Given the description of an element on the screen output the (x, y) to click on. 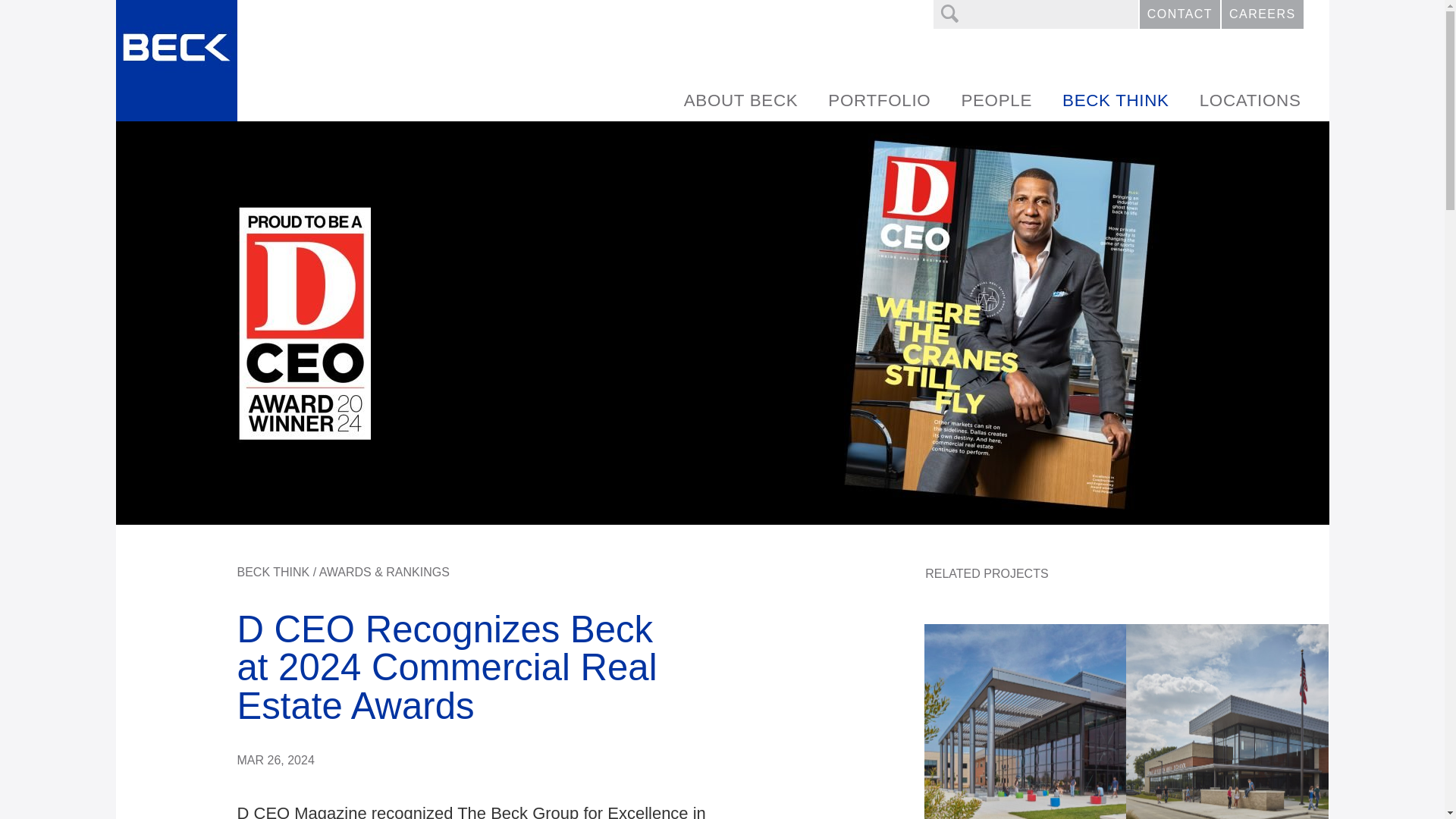
PEOPLE (995, 100)
ABOUT BECK (740, 100)
Search efter: (1035, 14)
PORTFOLIO (878, 100)
BECK THINK (1115, 100)
LOCATIONS (1250, 100)
The Beck Group (175, 60)
